Given the description of an element on the screen output the (x, y) to click on. 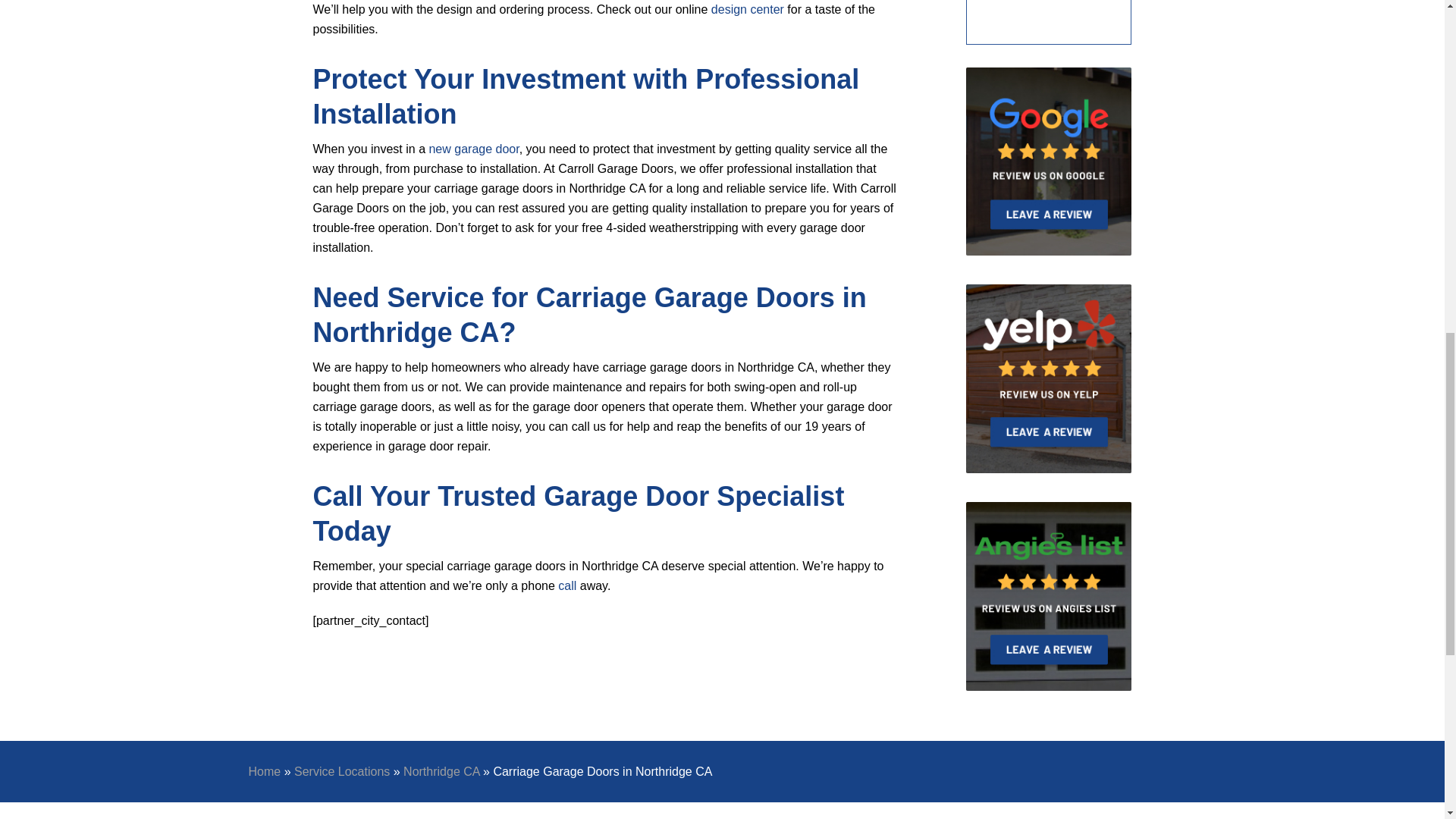
new garage door (473, 148)
design center (747, 9)
call (566, 585)
Home (264, 771)
Service Locations (342, 771)
New Garage Door (473, 148)
Northridge CA (441, 771)
Design Center (747, 9)
